Given the description of an element on the screen output the (x, y) to click on. 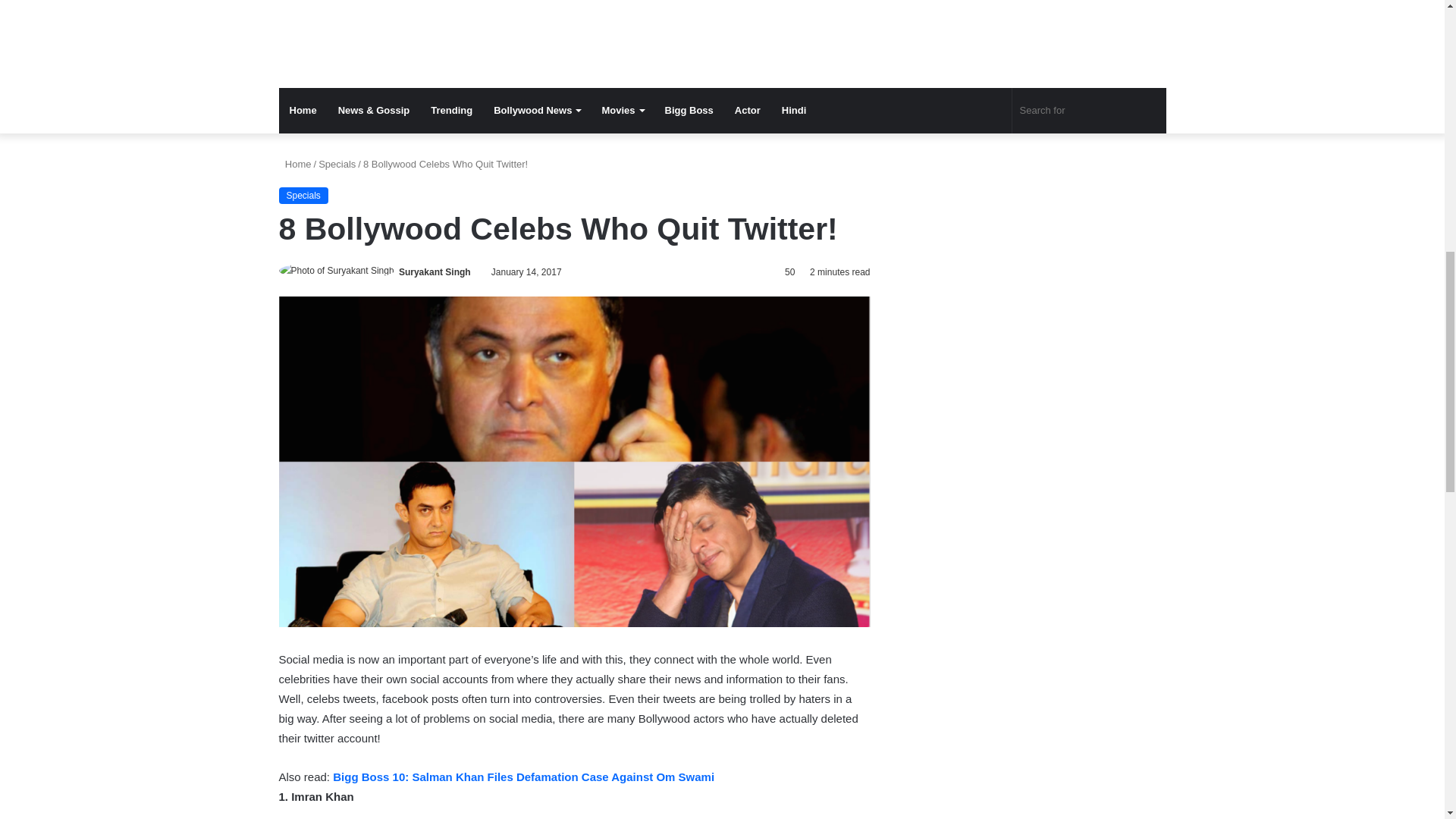
Suryakant Singh (434, 271)
Bollywood News (537, 110)
Actor (747, 110)
Filmymantra (688, 28)
Suryakant Singh (434, 271)
Movies (622, 110)
Bigg Boss (688, 110)
Specials (336, 163)
Search for (1088, 110)
Trending (451, 110)
Hindi (793, 110)
Home (295, 163)
Specials (304, 195)
Home (303, 110)
